Given the description of an element on the screen output the (x, y) to click on. 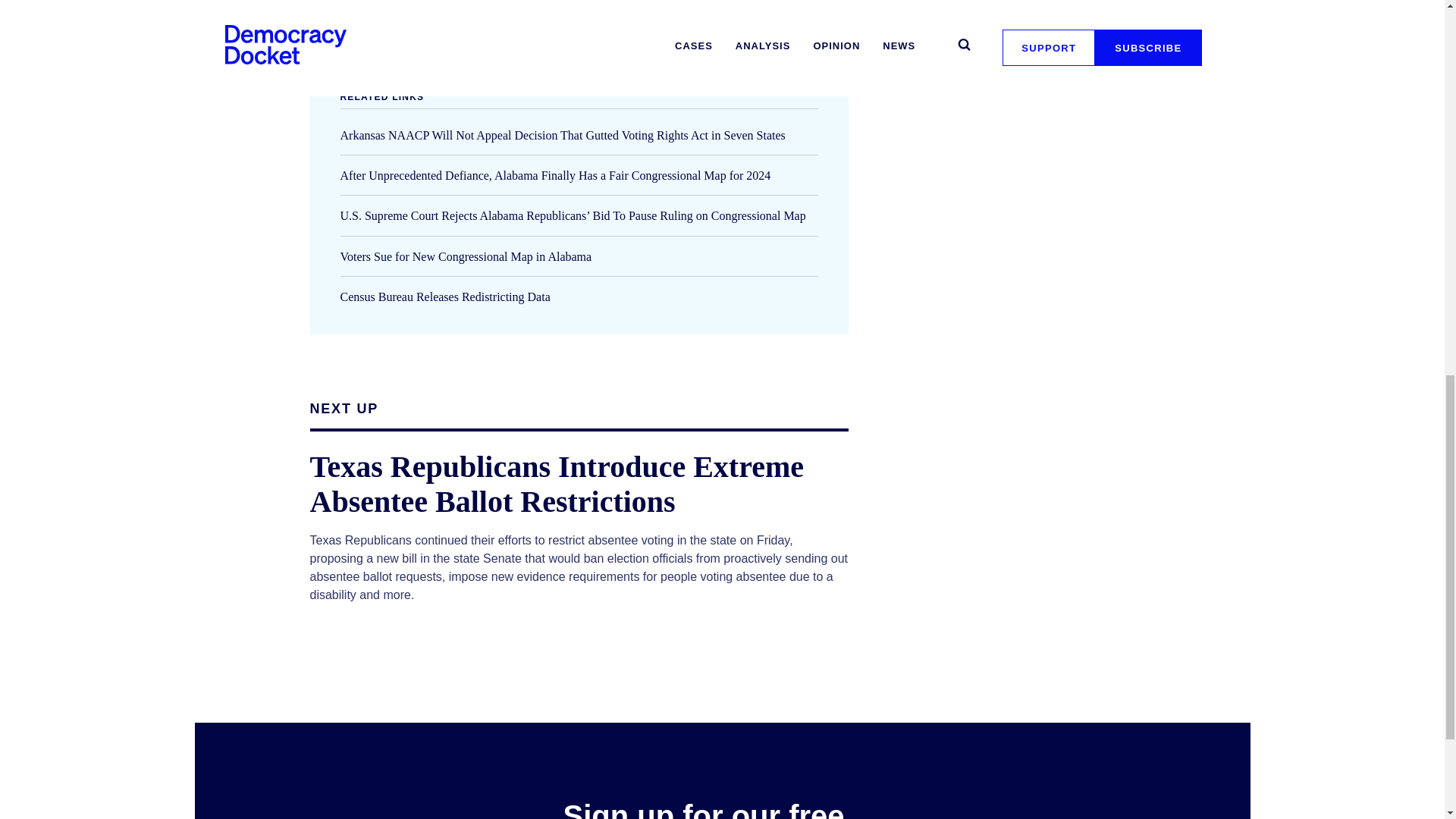
Voters Sue for New Congressional Map in Alabama (465, 256)
Census Bureau Releases Redistricting Data (444, 296)
